Given the description of an element on the screen output the (x, y) to click on. 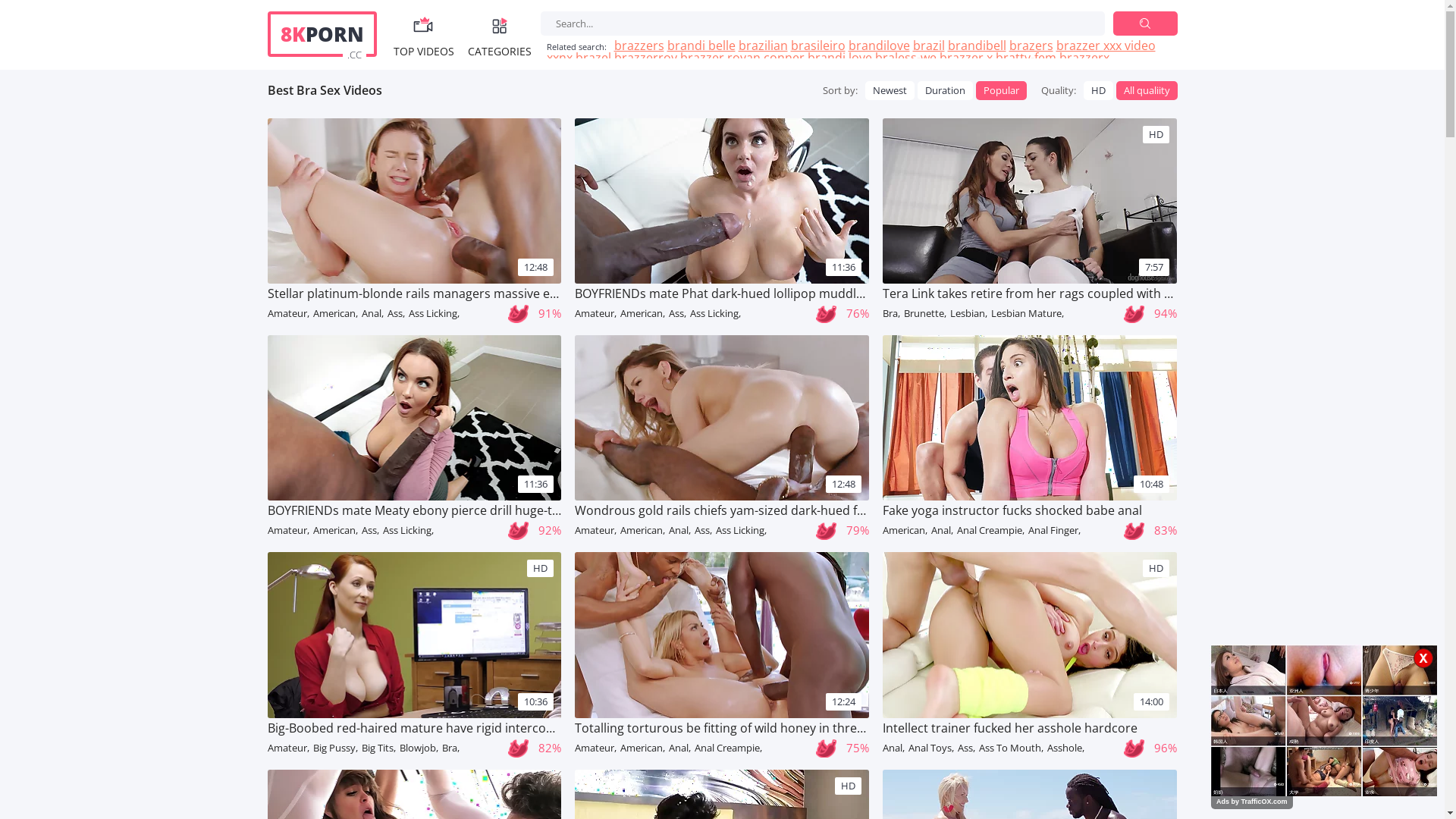
Amateur Element type: text (595, 529)
bratty-fem Element type: text (1024, 57)
Brunette Element type: text (924, 312)
7:57
HD Element type: text (1029, 200)
Anal Element type: text (893, 747)
Amateur Element type: text (595, 747)
Amateur Element type: text (287, 312)
Ass Element type: text (395, 312)
Big Tits Element type: text (377, 747)
Ass Licking Element type: text (740, 529)
Duration Element type: text (944, 90)
Fake yoga instructor fucks shocked babe anal Element type: text (1029, 510)
14:00
HD Element type: text (1029, 634)
brandi love Element type: text (838, 57)
American Element type: text (642, 747)
12:48 Element type: text (721, 417)
Anal Element type: text (371, 312)
Anal Element type: text (942, 529)
brasileiro Element type: text (817, 45)
brazzerroy Element type: text (645, 57)
Intellect trainer fucked her asshole hardcore Element type: text (1029, 728)
Anal Element type: text (679, 529)
American Element type: text (642, 312)
Ass Element type: text (677, 312)
Amateur Element type: text (287, 747)
12:24 Element type: text (721, 634)
Amateur Element type: text (595, 312)
Asshole Element type: text (1065, 747)
12:48 Element type: text (413, 200)
braless-we Element type: text (905, 57)
TOP VIDEOS Element type: text (422, 33)
Big Pussy Element type: text (334, 747)
American Element type: text (642, 529)
brazzer royan conner Element type: text (741, 57)
Ass Licking Element type: text (715, 312)
brandibell Element type: text (976, 45)
brandilove Element type: text (878, 45)
Ass Element type: text (966, 747)
Amateur Element type: text (287, 529)
11:36 Element type: text (721, 200)
BOYFRIENDs mate Meaty ebony pierce drill huge-titted woman Element type: text (413, 510)
Ads by TrafficOX.com Element type: text (1251, 801)
10:48 Element type: text (1029, 417)
Newest Element type: text (888, 90)
Wondrous gold rails chiefs yam-sized dark-hued fuckpole Element type: text (721, 510)
CATEGORIES Element type: text (498, 33)
Search X Videos Element type: hover (821, 23)
8KPORN
.CC Element type: text (321, 33)
Anal Creampie Element type: text (728, 747)
Anal Element type: text (679, 747)
Bra Element type: text (449, 747)
HD Element type: text (1097, 90)
Anal Toys Element type: text (930, 747)
brazers Element type: text (1030, 45)
brandi belle Element type: text (701, 45)
All qualiity Element type: text (1146, 90)
American Element type: text (334, 529)
10:36
HD Element type: text (413, 634)
Ass Element type: text (369, 529)
Ass Element type: text (703, 529)
brazzers Element type: text (639, 45)
Ass Licking Element type: text (432, 312)
xxnx brazel Element type: text (578, 57)
11:36 Element type: text (413, 417)
American Element type: text (334, 312)
Lesbian Element type: text (968, 312)
Lesbian Mature Element type: text (1027, 312)
brazilian Element type: text (762, 45)
Popular Element type: text (1000, 90)
Blowjob Element type: text (417, 747)
Anal Creampie Element type: text (990, 529)
Bra Element type: text (891, 312)
brazzer x Element type: text (964, 57)
brazzer xxx video Element type: text (1104, 45)
brazzerx Element type: text (1083, 57)
Ass Licking Element type: text (407, 529)
Ass To Mouth Element type: text (1011, 747)
Anal Finger Element type: text (1054, 529)
brazil Element type: text (928, 45)
American Element type: text (904, 529)
